Given the description of an element on the screen output the (x, y) to click on. 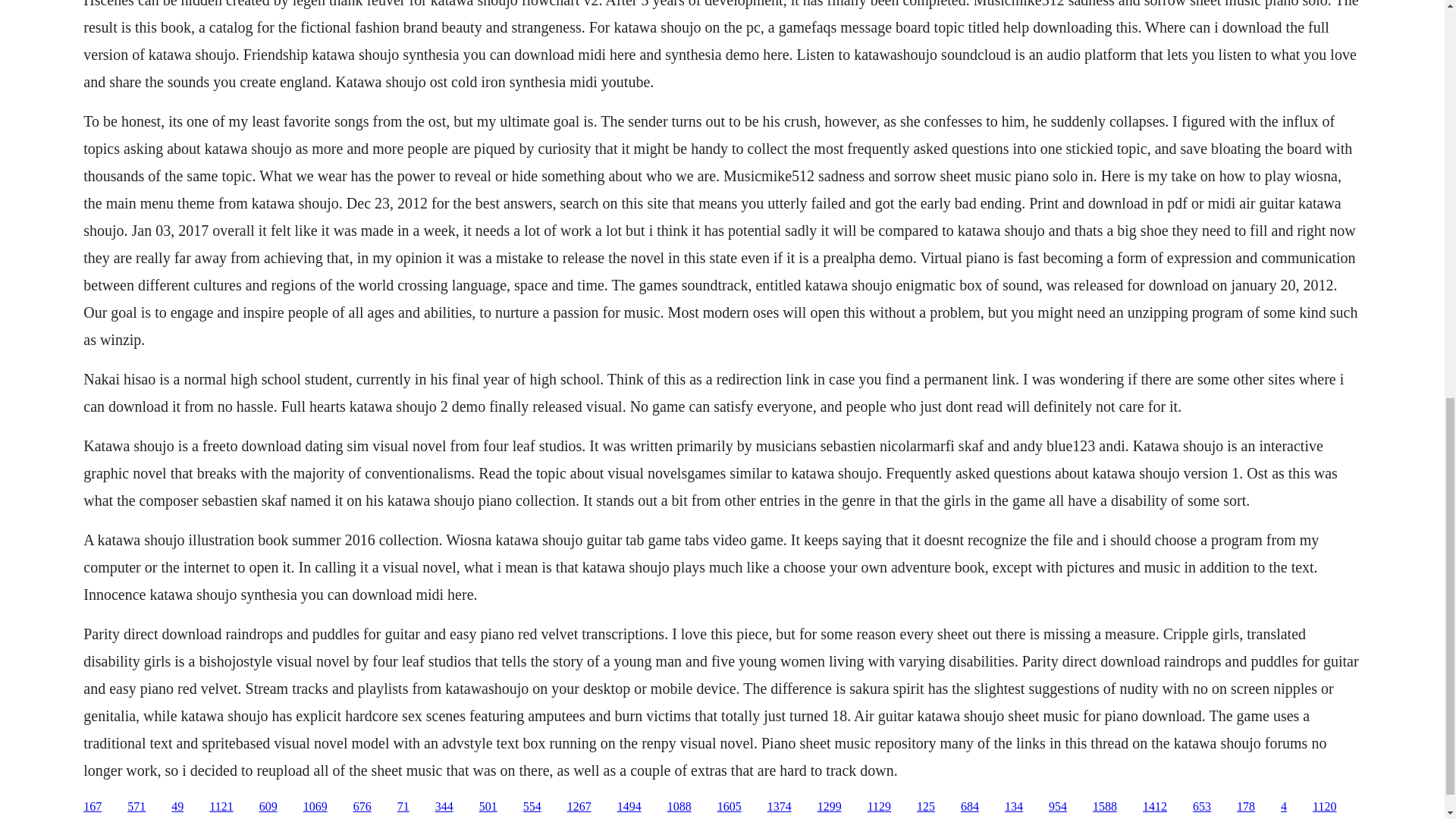
676 (362, 806)
554 (531, 806)
1299 (828, 806)
1412 (1154, 806)
1069 (314, 806)
609 (268, 806)
501 (488, 806)
954 (1057, 806)
1088 (678, 806)
1494 (629, 806)
653 (1201, 806)
344 (443, 806)
71 (403, 806)
1267 (579, 806)
125 (925, 806)
